Given the description of an element on the screen output the (x, y) to click on. 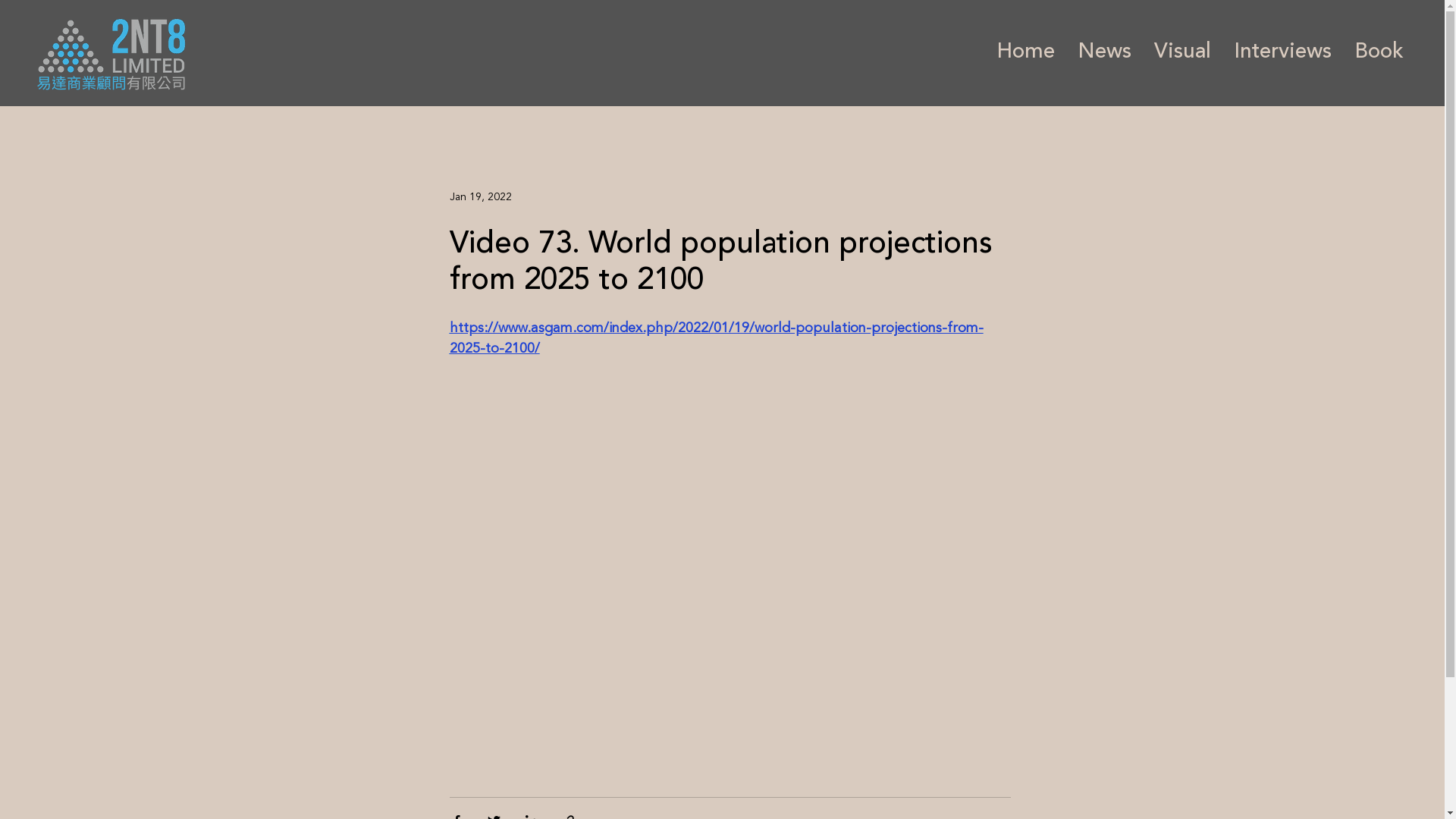
Interviews Element type: text (1282, 52)
Visual Element type: text (1182, 52)
Book Element type: text (1379, 52)
Home Element type: text (1025, 52)
News Element type: text (1104, 52)
